Given the description of an element on the screen output the (x, y) to click on. 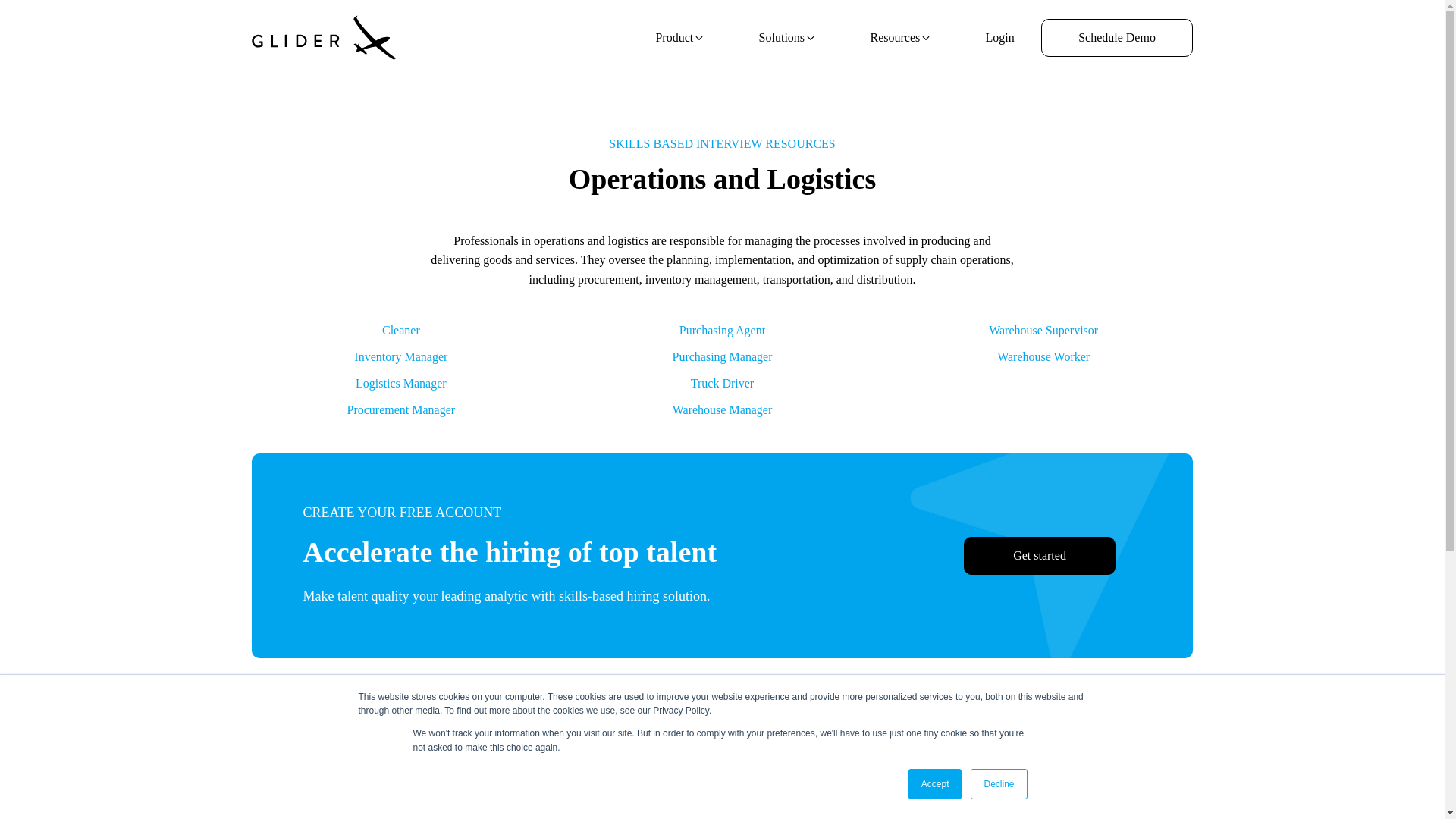
Solutions (787, 37)
Decline (998, 784)
Product (680, 37)
Accept (935, 784)
Resources (900, 37)
